Given the description of an element on the screen output the (x, y) to click on. 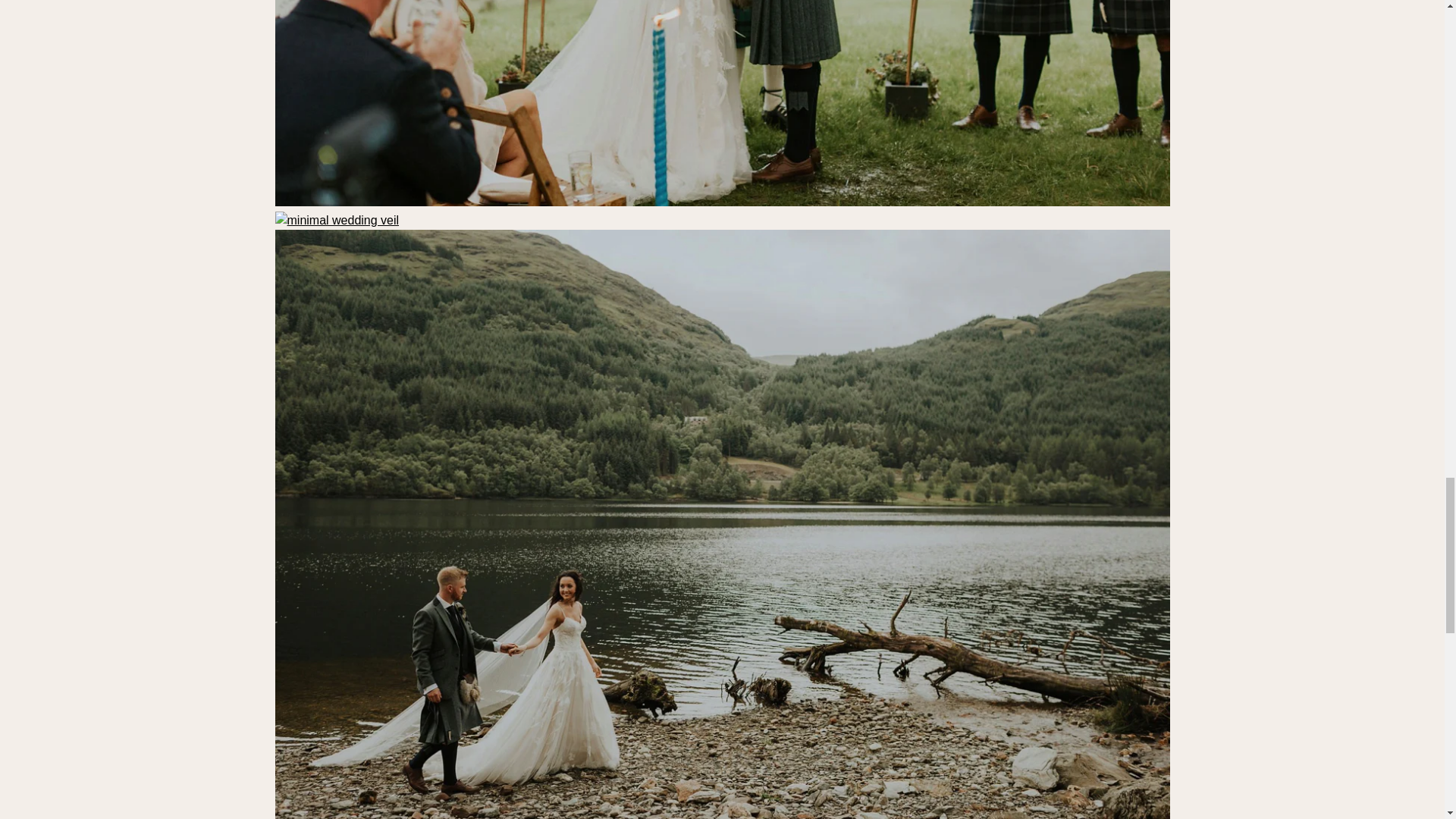
minimal wedding veil (722, 201)
minimal wedding veil (336, 219)
